Given the description of an element on the screen output the (x, y) to click on. 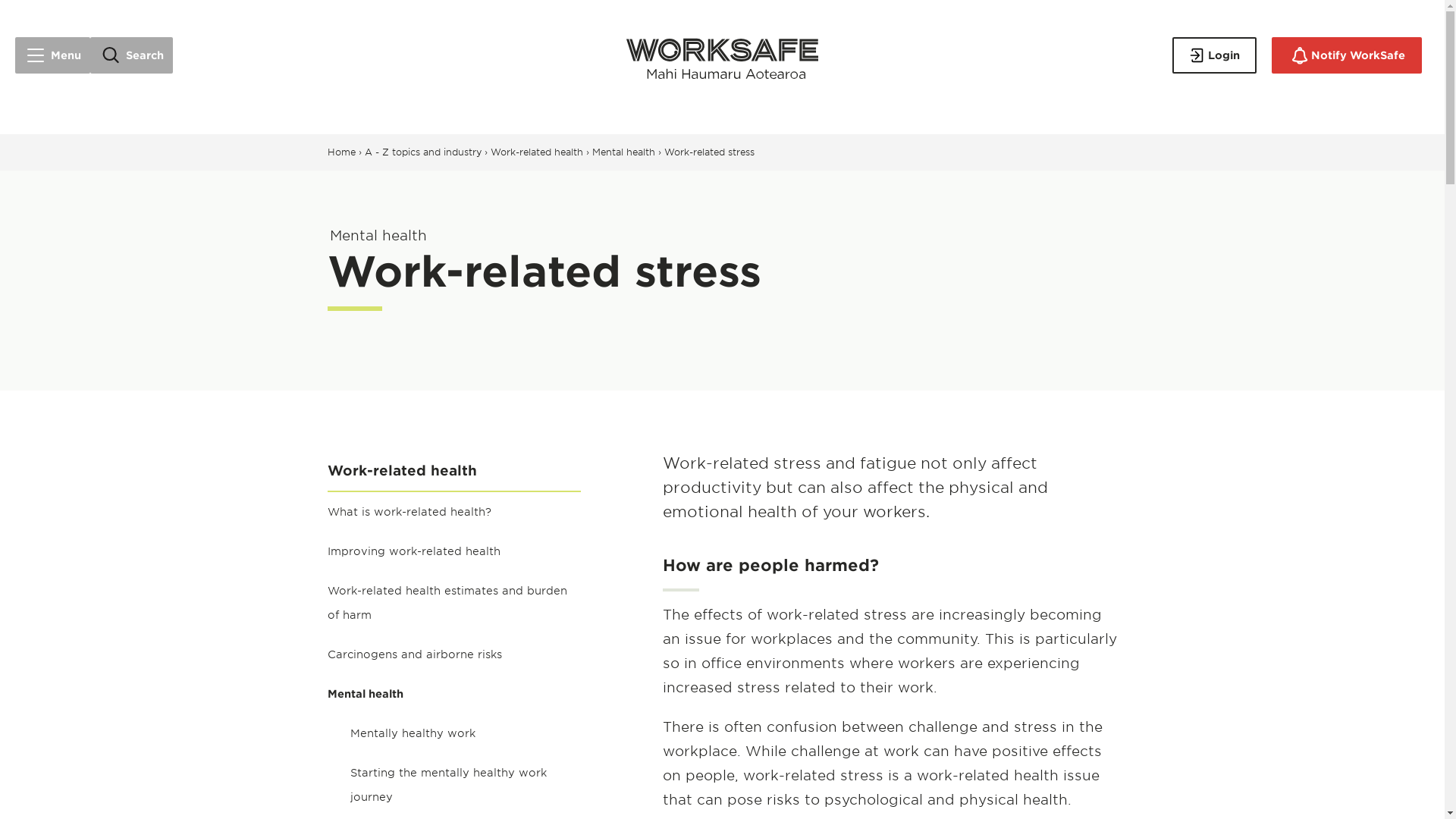
Login (1214, 54)
Menu (52, 54)
Search (131, 54)
Notify WorkSafe (1346, 54)
Link to home page (722, 54)
